Given the description of an element on the screen output the (x, y) to click on. 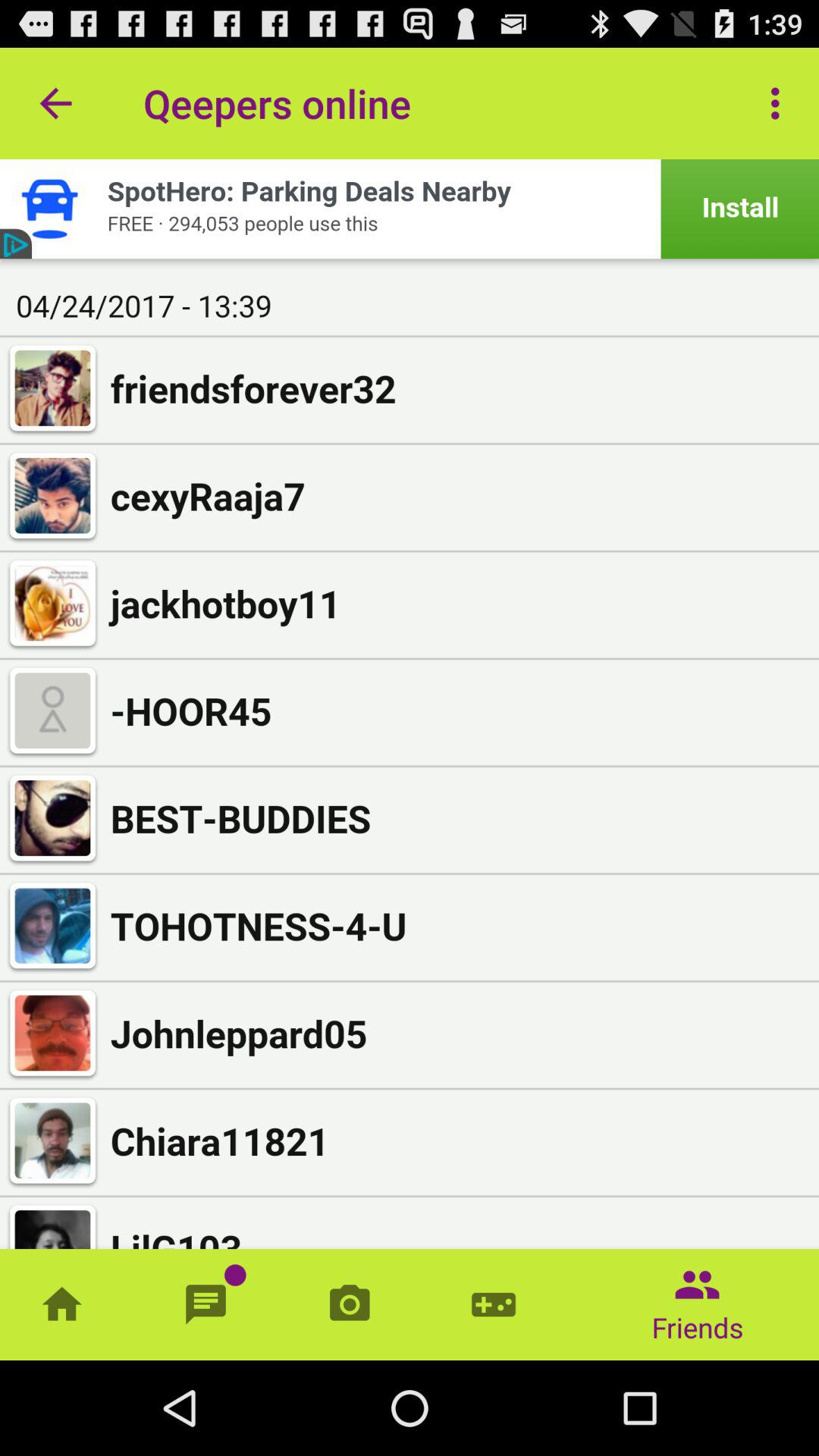
select the add link (409, 208)
